Given the description of an element on the screen output the (x, y) to click on. 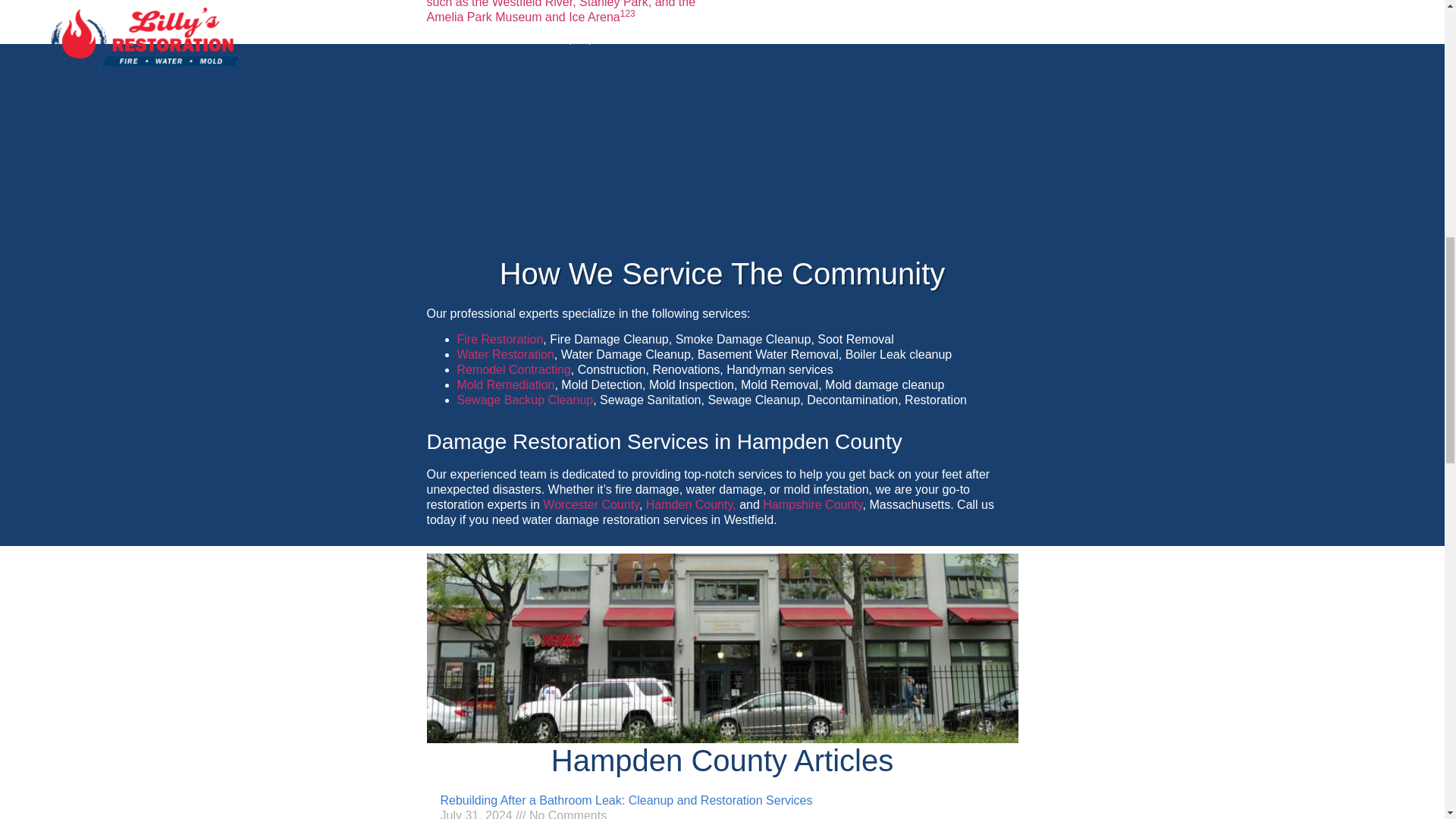
Hamden County, (691, 504)
Water Restoration (505, 354)
Remodel Contracting (513, 369)
Mold Remediation (505, 384)
Worcester County (591, 504)
Fire Restoration (500, 338)
Hampshire County (811, 504)
Sewage Backup Cleanup (524, 399)
